Given the description of an element on the screen output the (x, y) to click on. 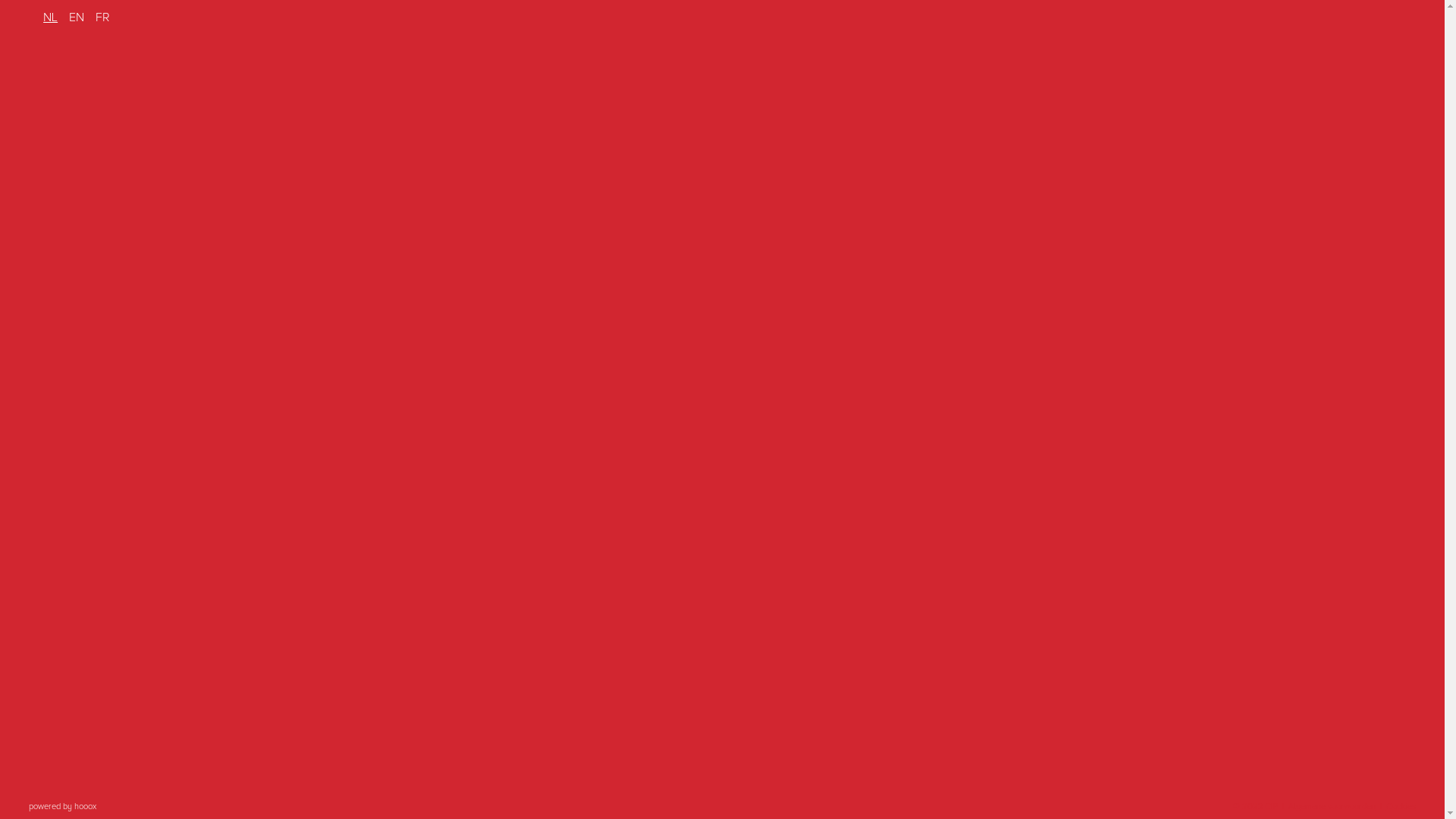
Algemene voorwaarden Element type: text (1331, 806)
EN Element type: text (76, 17)
powered by hooox Element type: text (62, 806)
FR Element type: text (102, 17)
NL Element type: text (50, 17)
Cookies Element type: text (1400, 806)
